Given the description of an element on the screen output the (x, y) to click on. 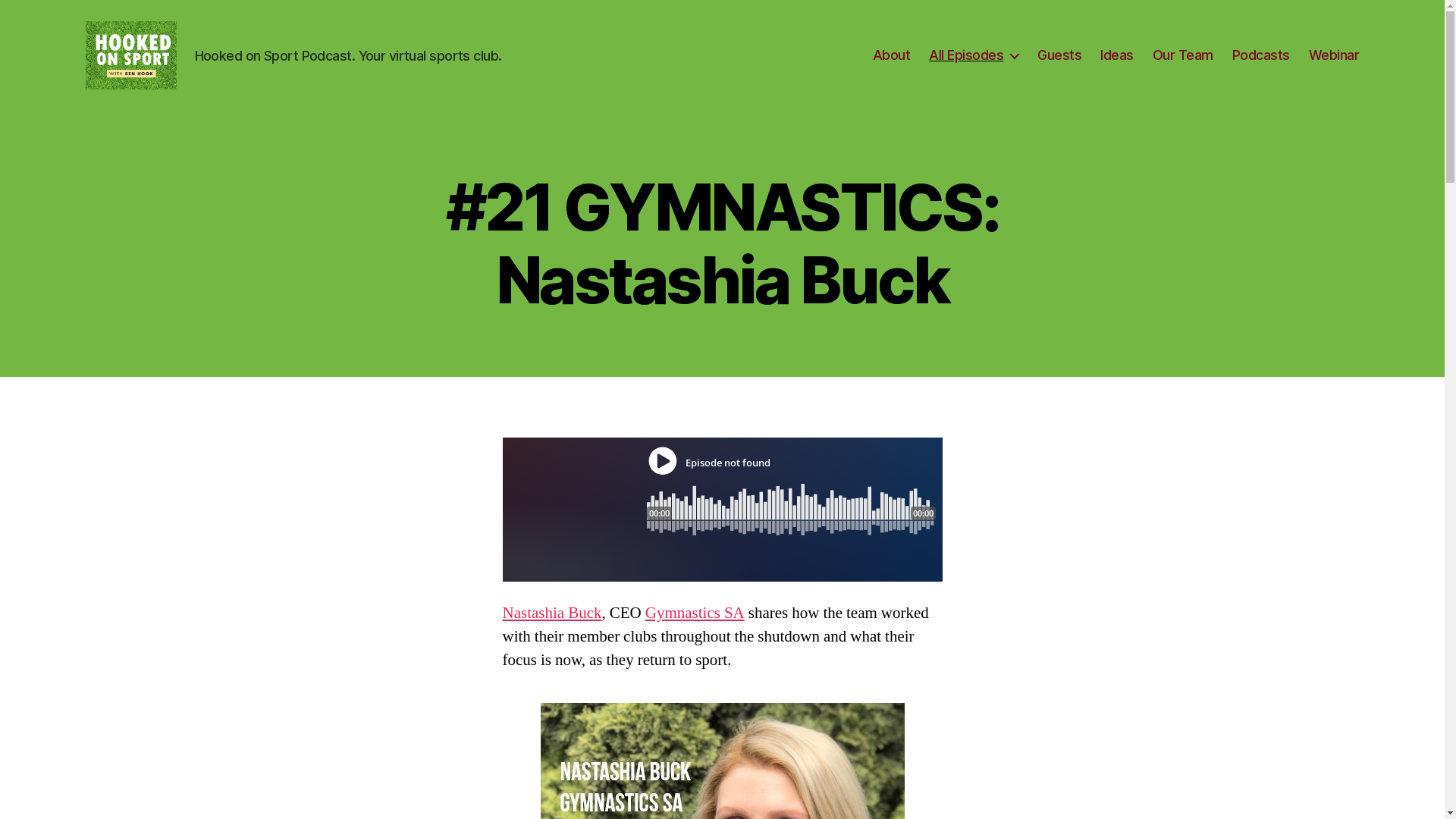
Guests Element type: text (1059, 55)
Nastashia Buck Element type: text (551, 612)
Ideas Element type: text (1116, 55)
About Element type: text (891, 55)
Podcasts Element type: text (1260, 55)
Our Team Element type: text (1182, 55)
Gymnastics SA Element type: text (694, 612)
Webinar Element type: text (1333, 55)
All Episodes Element type: text (973, 55)
